Given the description of an element on the screen output the (x, y) to click on. 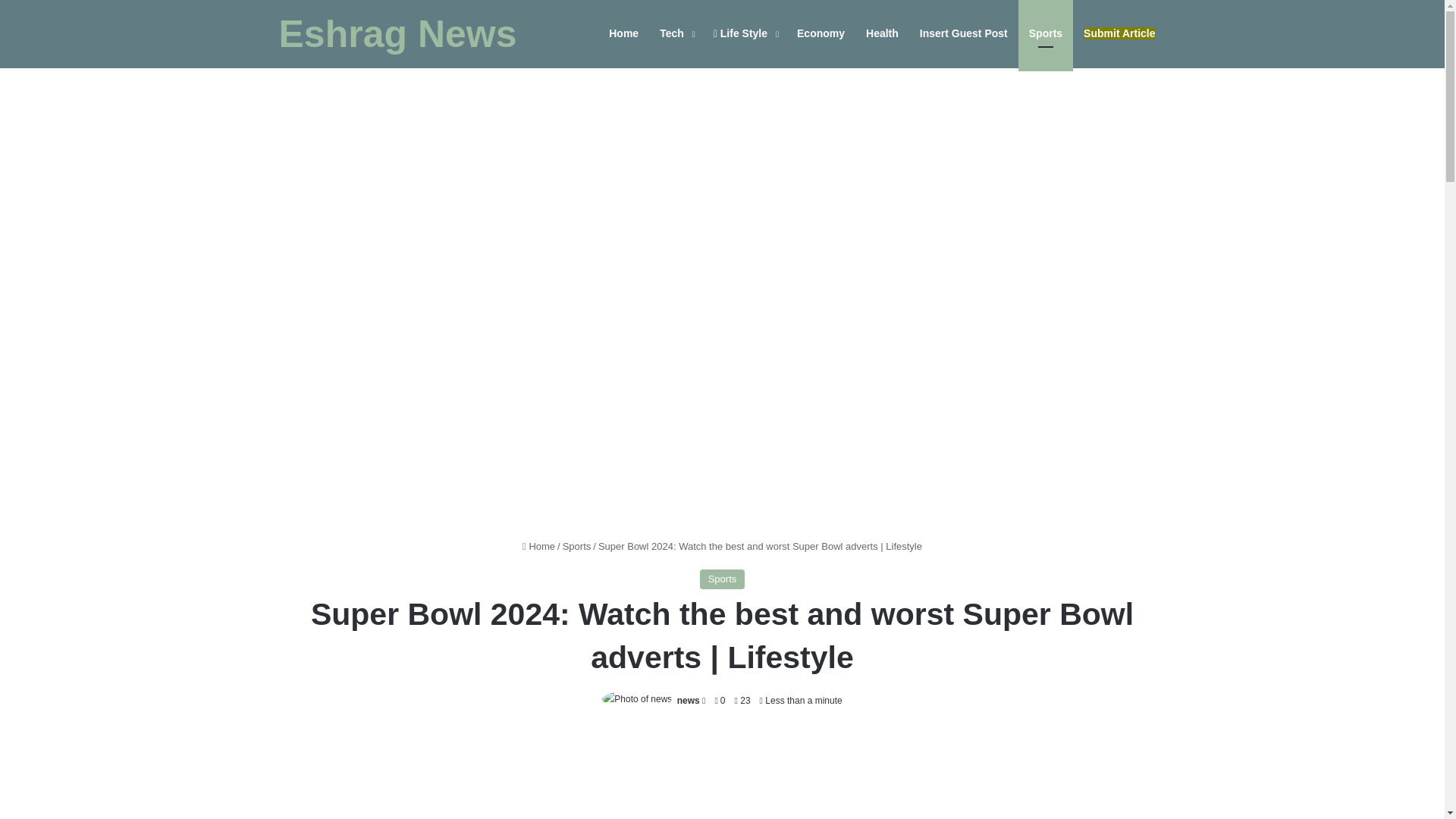
news (688, 700)
Sports (576, 546)
Sports (722, 578)
Home (538, 546)
news (688, 700)
Advertisement (722, 775)
Insert Guest Post (962, 33)
Life Style (744, 33)
Economy (821, 33)
Eshrag News (397, 34)
Eshrag News (397, 34)
Submit Article (1119, 33)
